Given the description of an element on the screen output the (x, y) to click on. 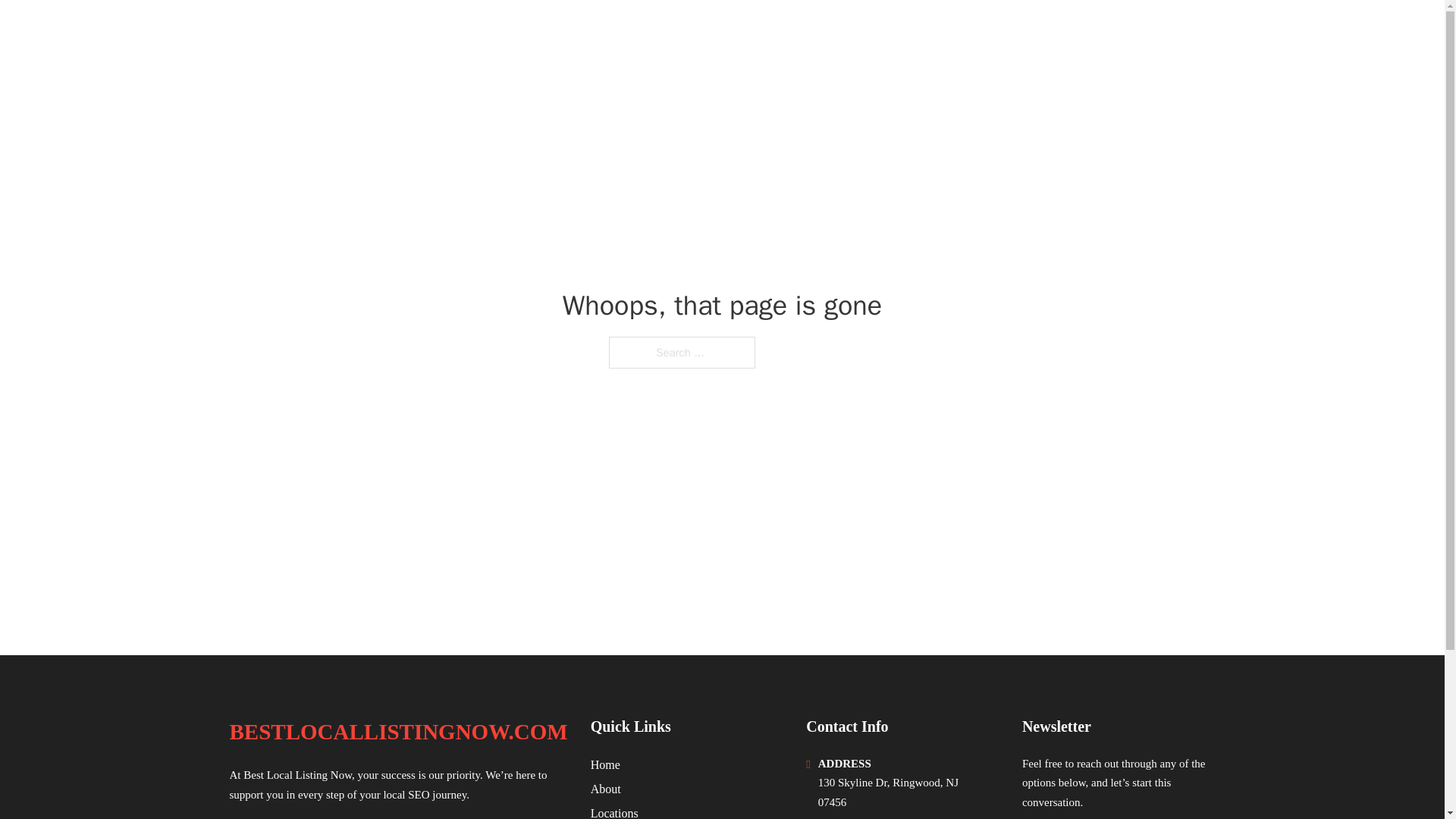
BESTLOCALLISTINGNOW.COM (397, 732)
Home (605, 764)
About (606, 788)
BESTLOCALLISTINGNOW.COM (415, 31)
LOCATIONS (1075, 31)
Locations (615, 811)
HOME (1002, 31)
